Given the description of an element on the screen output the (x, y) to click on. 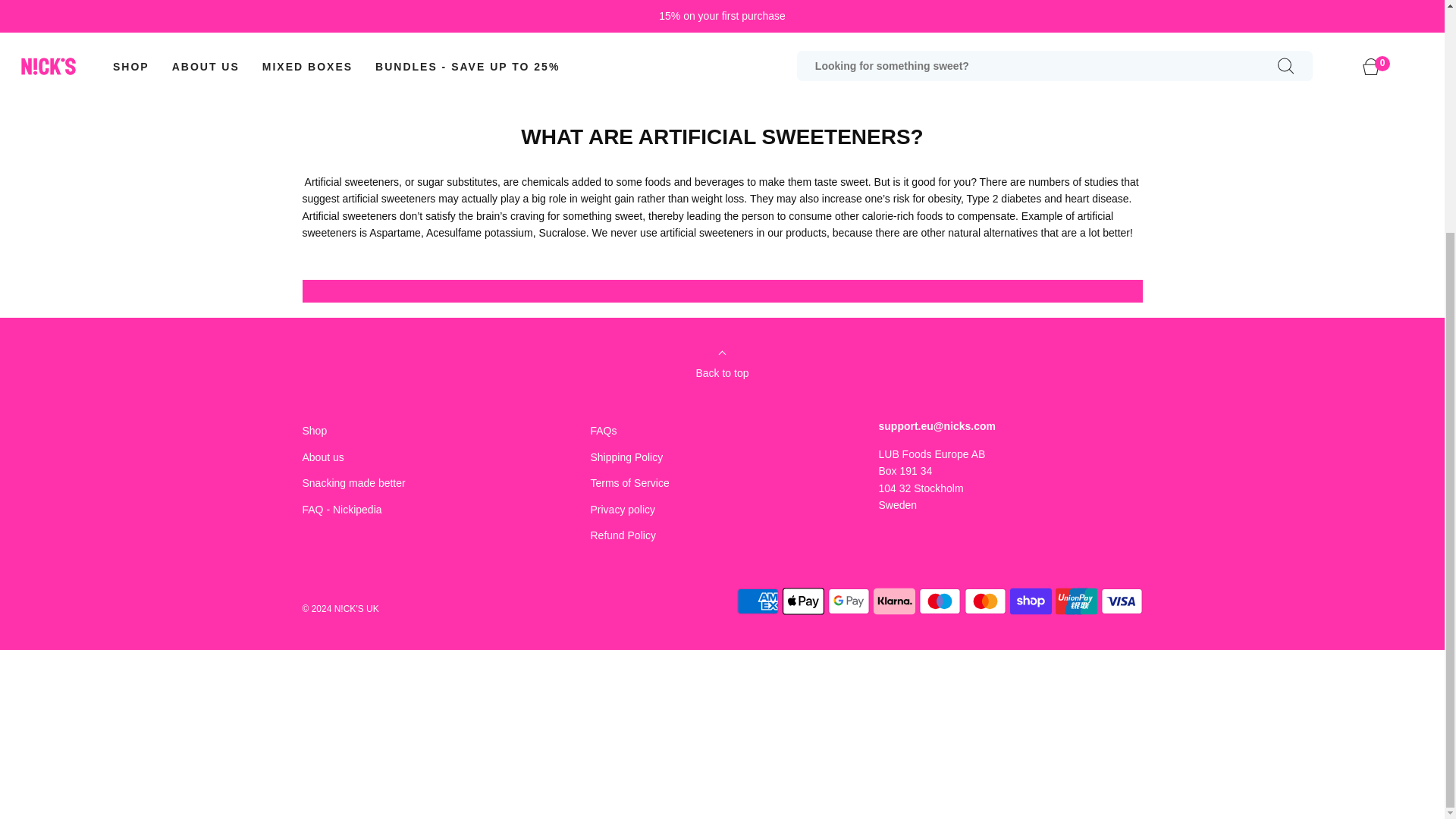
Shop (317, 430)
SHOP (131, 66)
Back to top (722, 368)
ABOUT US (205, 66)
MIXED BOXES (307, 66)
Cart (1380, 66)
About us (322, 457)
0 (1380, 66)
Snacking made better (352, 483)
